Given the description of an element on the screen output the (x, y) to click on. 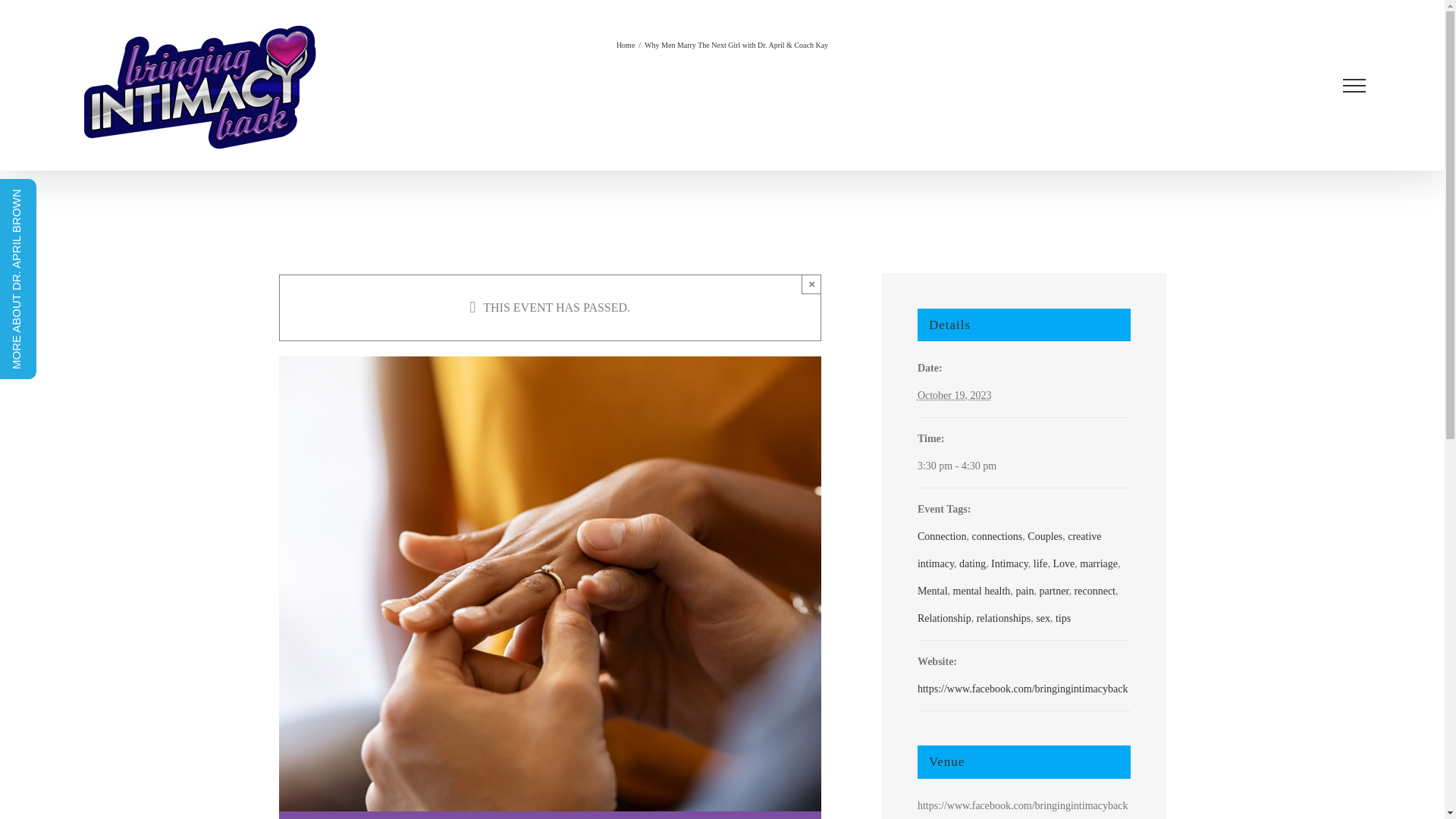
2023-10-19 (954, 395)
Home (624, 44)
connections (996, 536)
Connection (941, 536)
2023-10-19 (1024, 465)
